Given the description of an element on the screen output the (x, y) to click on. 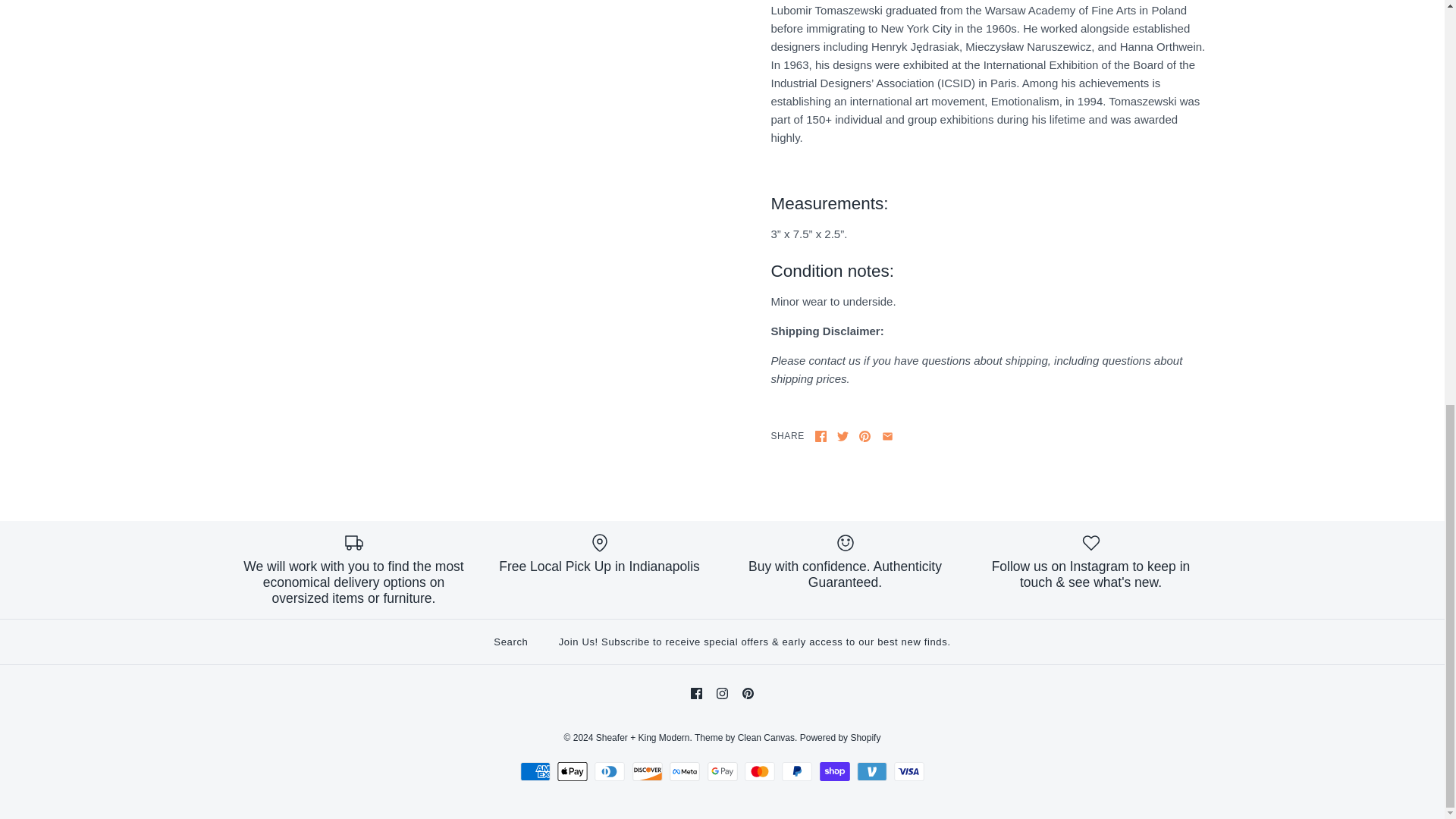
Instagram (722, 693)
Pinterest (864, 436)
Apple Pay (572, 771)
Facebook (695, 693)
American Express (534, 771)
Facebook (821, 436)
Discover (646, 771)
Pinterest (748, 693)
Email (887, 436)
Diners Club (609, 771)
Meta Pay (684, 771)
Twitter (842, 436)
Share on Twitter (842, 436)
Pin the main image (864, 436)
Share on Facebook (821, 436)
